Given the description of an element on the screen output the (x, y) to click on. 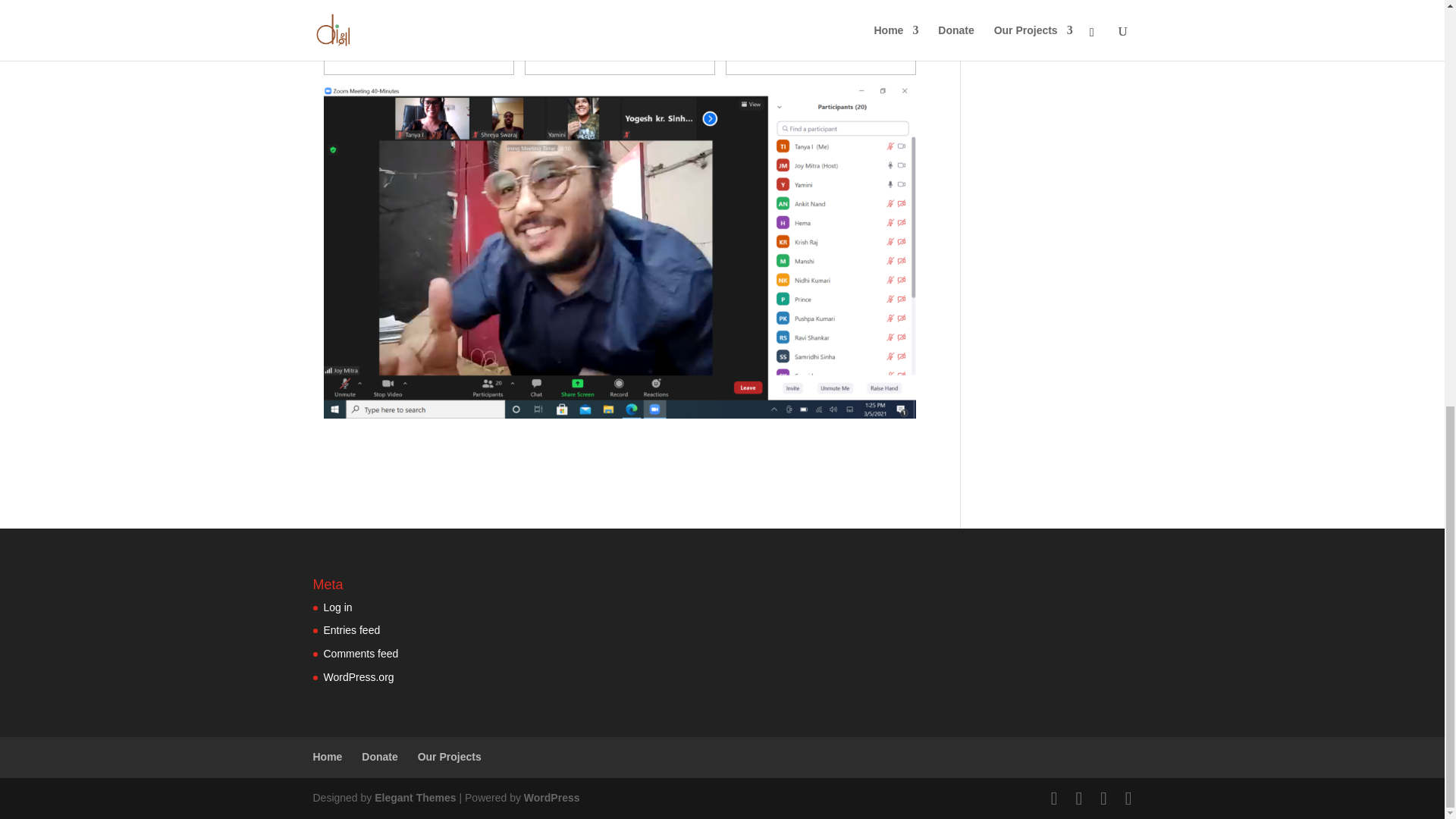
WordPress.org (358, 676)
Log in (337, 607)
Premium WordPress Themes (414, 797)
Donate (379, 756)
Entries feed (351, 630)
WordPress (551, 797)
Home (327, 756)
Comments feed (360, 653)
Elegant Themes (414, 797)
Our Projects (449, 756)
